Given the description of an element on the screen output the (x, y) to click on. 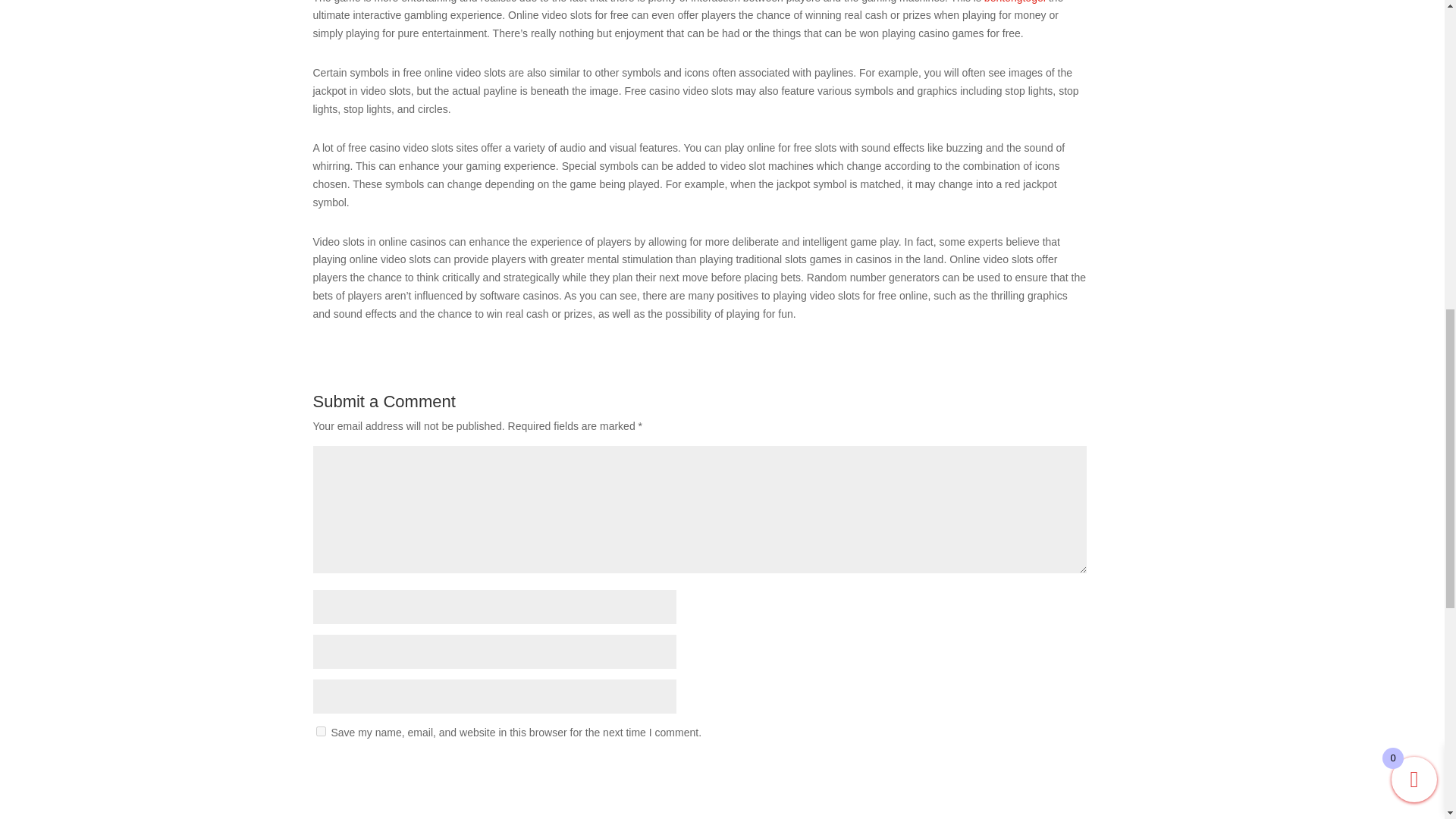
Submit Comment (1011, 771)
yes (319, 731)
